Given the description of an element on the screen output the (x, y) to click on. 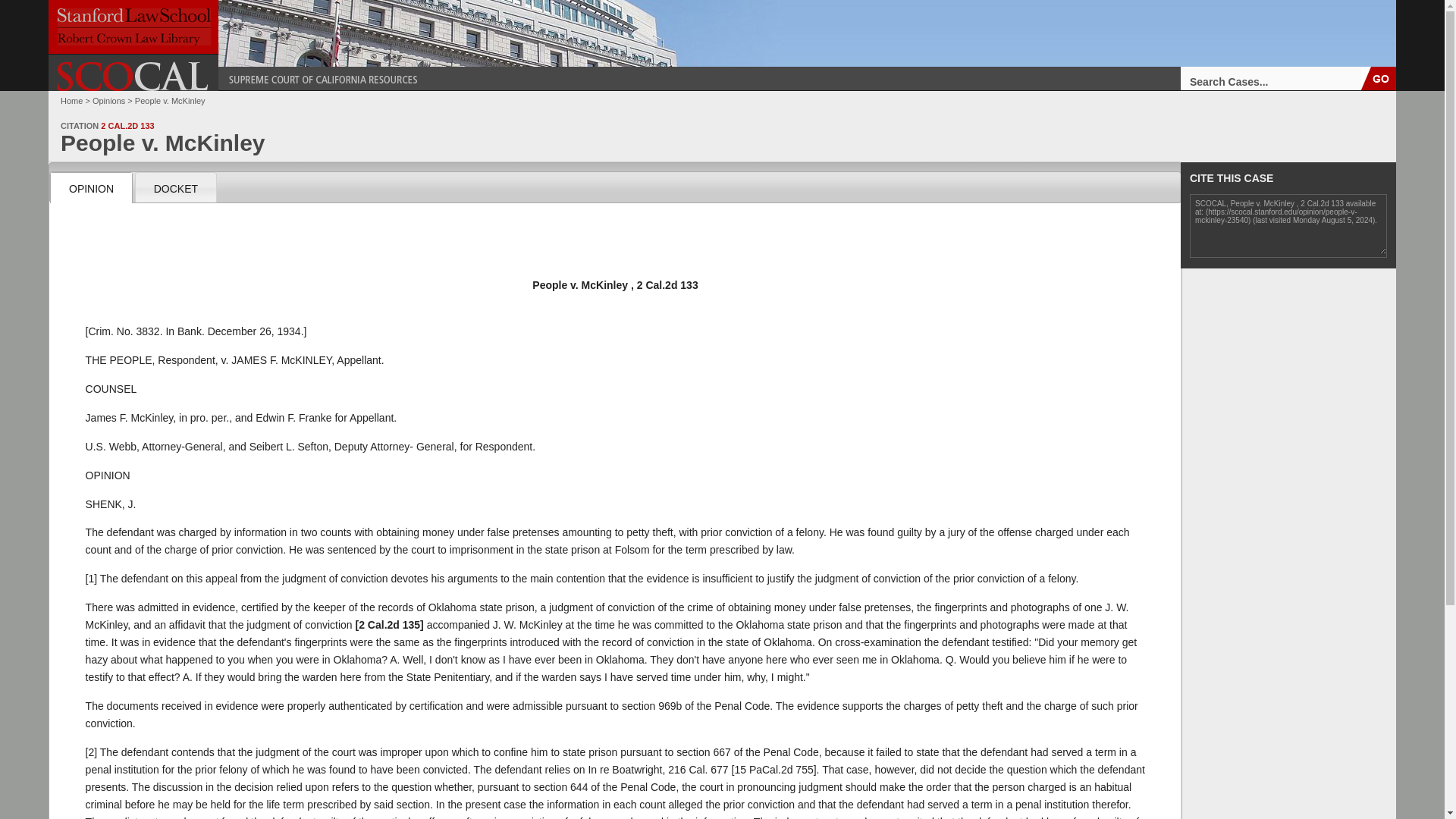
Supreme Court of California (133, 76)
Search (1378, 78)
Stanford Law School - Robert Crown Law Library (133, 27)
OPINION (91, 187)
Search Cases... (1270, 78)
Home (71, 100)
Search (1378, 78)
Opinions (109, 100)
Search Cases... (1270, 78)
DOCKET (175, 187)
